Given the description of an element on the screen output the (x, y) to click on. 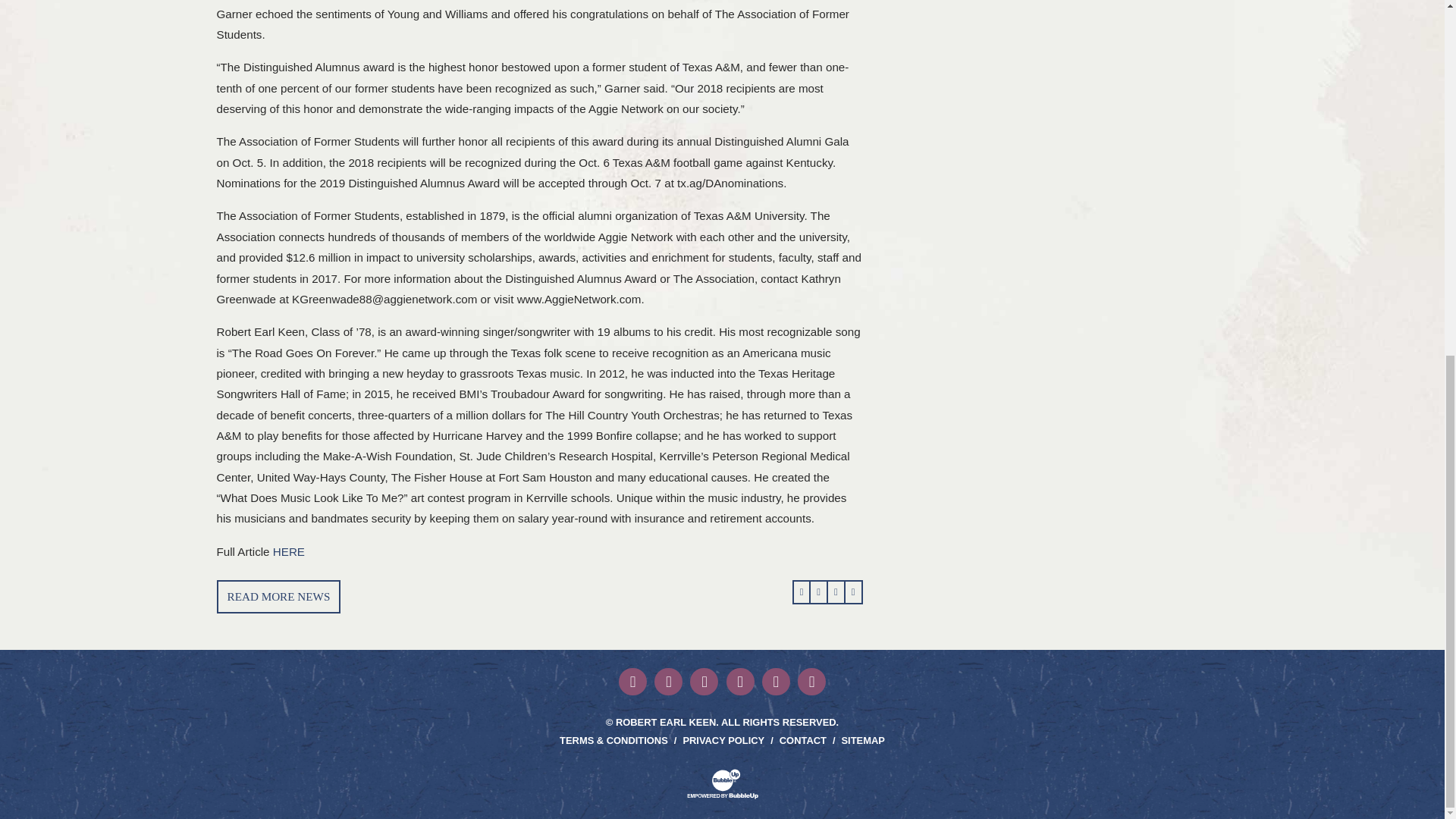
CONTACT (802, 740)
YOUTUBE (775, 682)
READ MORE NEWS (278, 595)
HERE (288, 551)
PRIVACY POLICY (723, 740)
APPLE (811, 682)
FACEBOOK (632, 682)
TWITTER (667, 682)
SITEMAP (863, 740)
INSTAGRAM (703, 682)
